Given the description of an element on the screen output the (x, y) to click on. 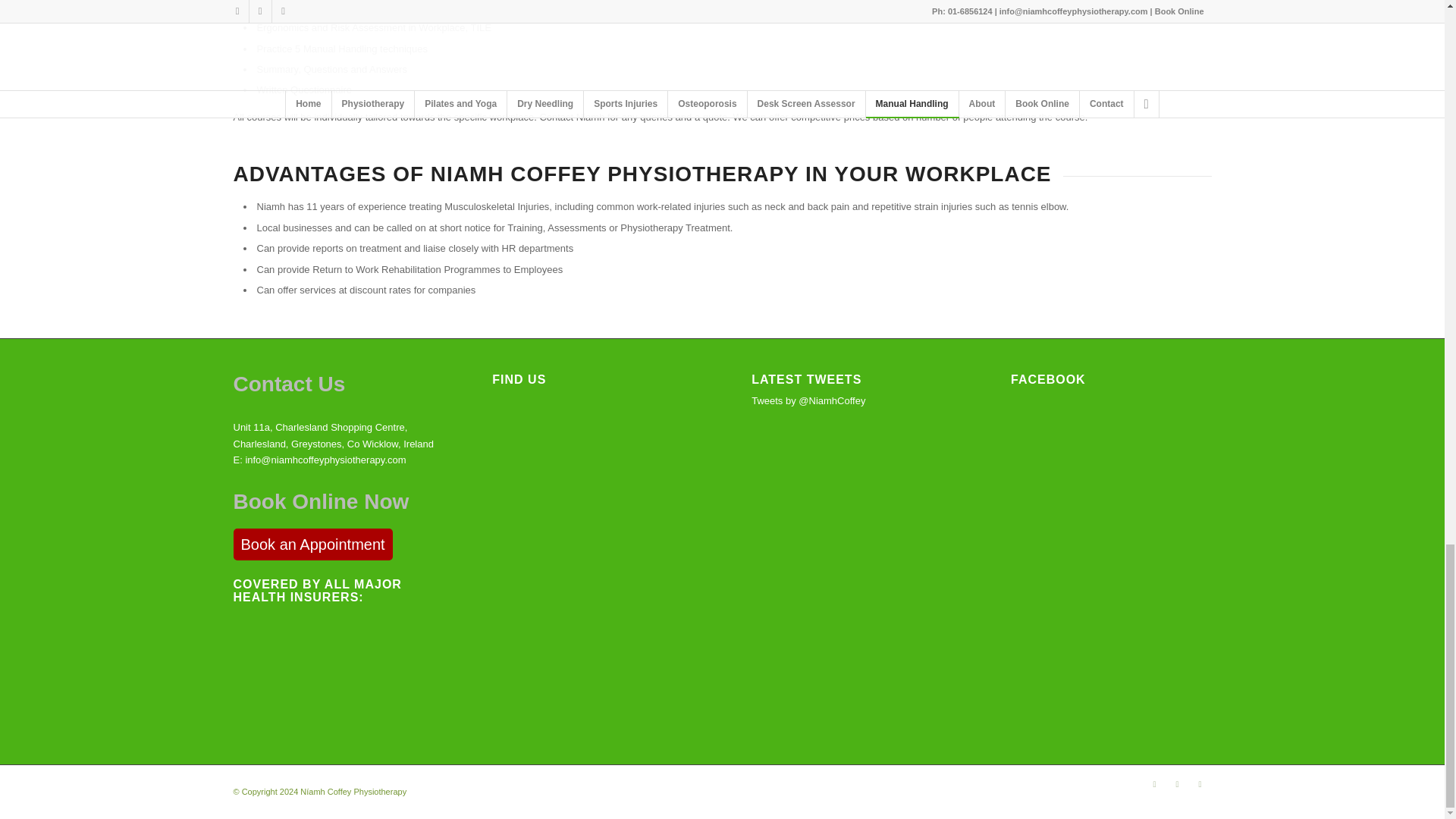
Facebook (1177, 784)
Book an Appointment (312, 544)
Twitter (1200, 784)
Gplus (1154, 784)
